Given the description of an element on the screen output the (x, y) to click on. 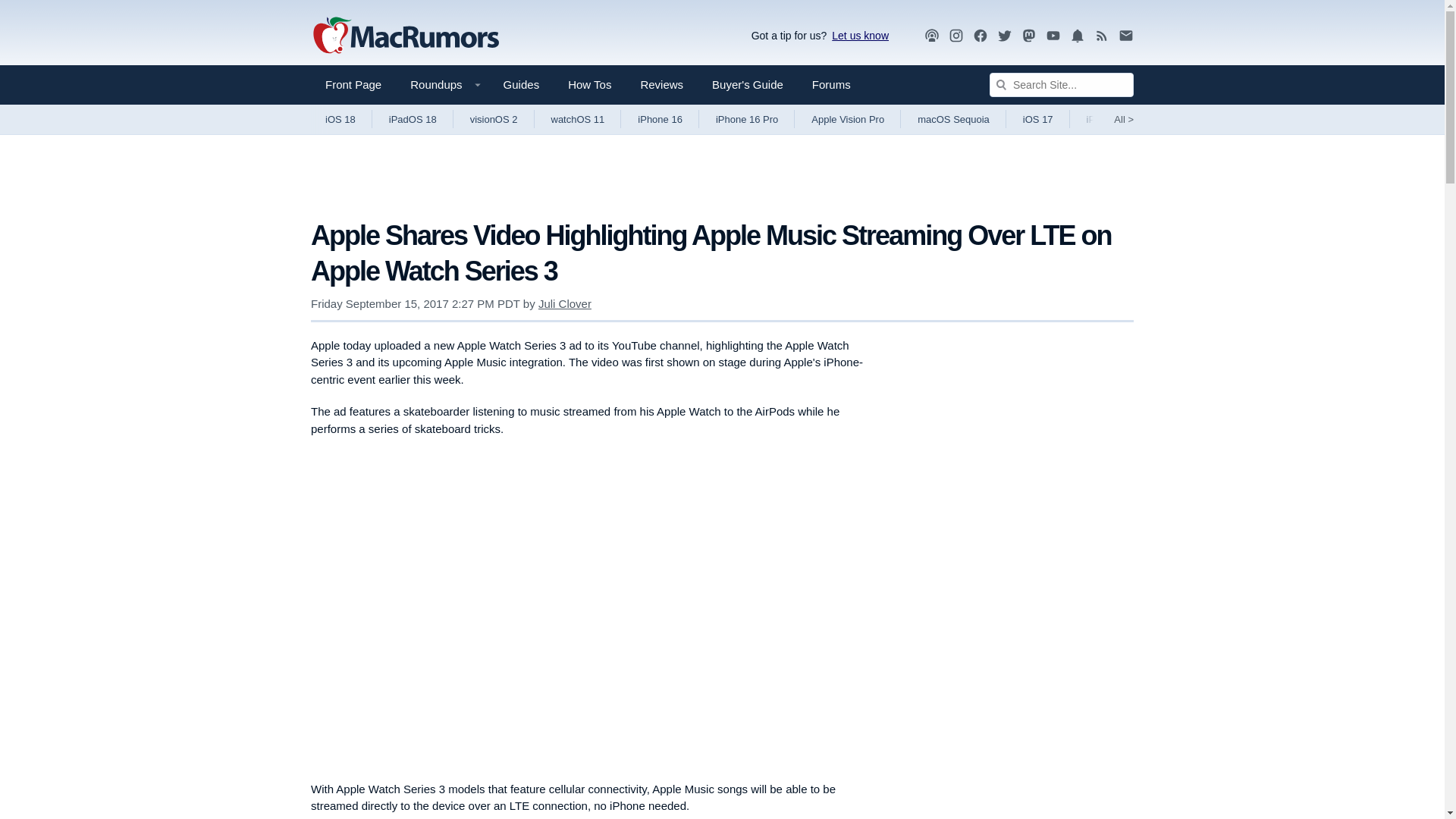
Let us know (857, 35)
Instagram (956, 35)
Twitter (1004, 35)
Forums (830, 84)
YouTube (1053, 35)
Guides (521, 84)
Instagram (956, 35)
RSS (1101, 35)
Mastodon (1029, 35)
Facebook (980, 35)
MacRumors RSS Feed (1101, 35)
MacRumors on Mastodon (1029, 35)
Notifications (1077, 35)
Newsletter (1126, 35)
Front Page (353, 84)
